Given the description of an element on the screen output the (x, y) to click on. 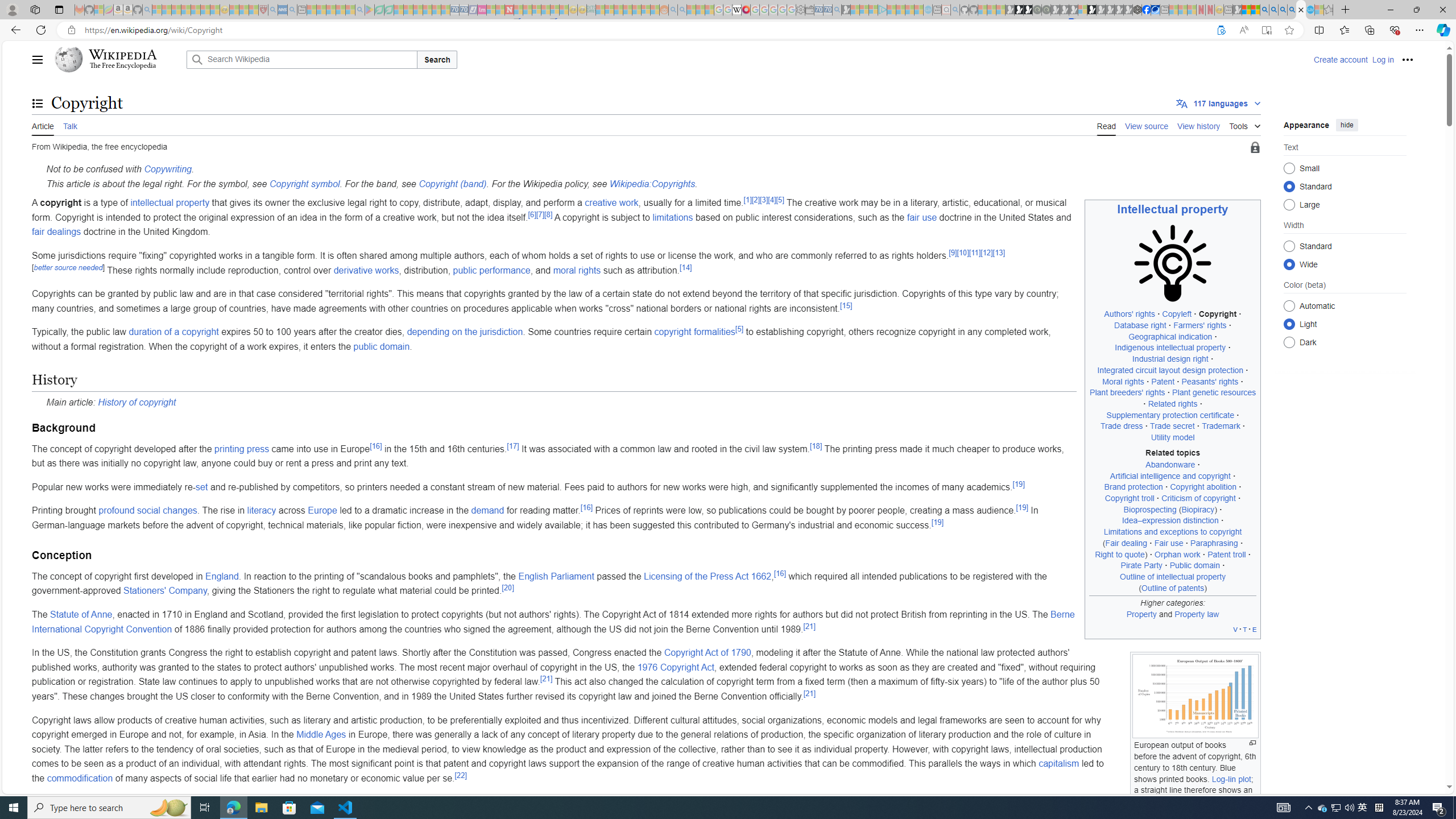
Utah sues federal government - Search - Sleeping (681, 9)
Talk (69, 124)
Related rights (1172, 403)
Log-lin plot (1230, 778)
Outline of intellectual property (Outline of patents) (1172, 581)
AirNow.gov (1154, 9)
derivative works (365, 270)
Outline of intellectual property (1172, 576)
github - Search - Sleeping (954, 9)
